Given the description of an element on the screen output the (x, y) to click on. 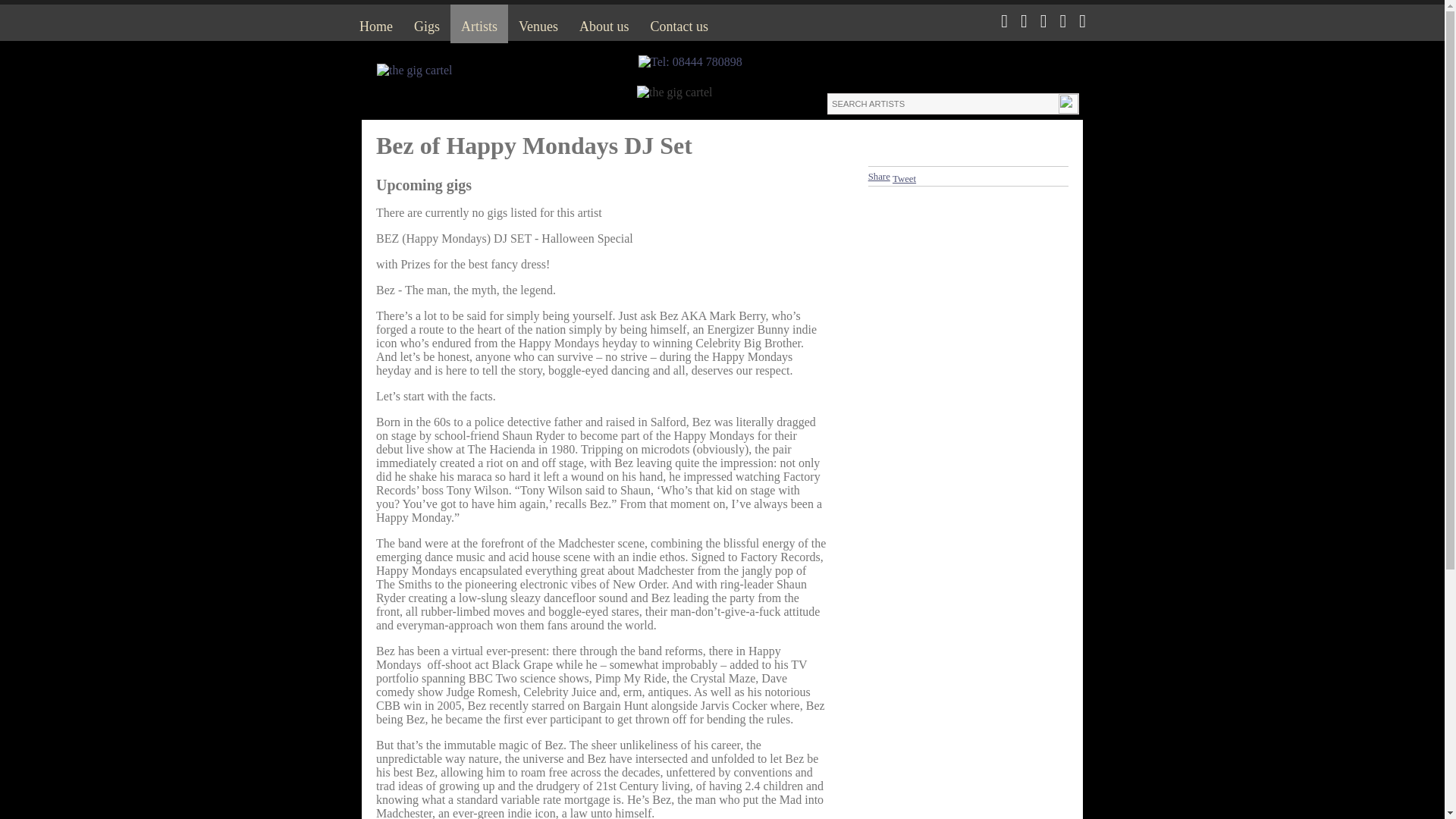
Tweet (903, 178)
Artists (478, 23)
Gigs (426, 23)
Venues (538, 23)
Share (878, 176)
Contact us (679, 23)
About us (604, 23)
Search artists (942, 103)
Home (376, 23)
